Given the description of an element on the screen output the (x, y) to click on. 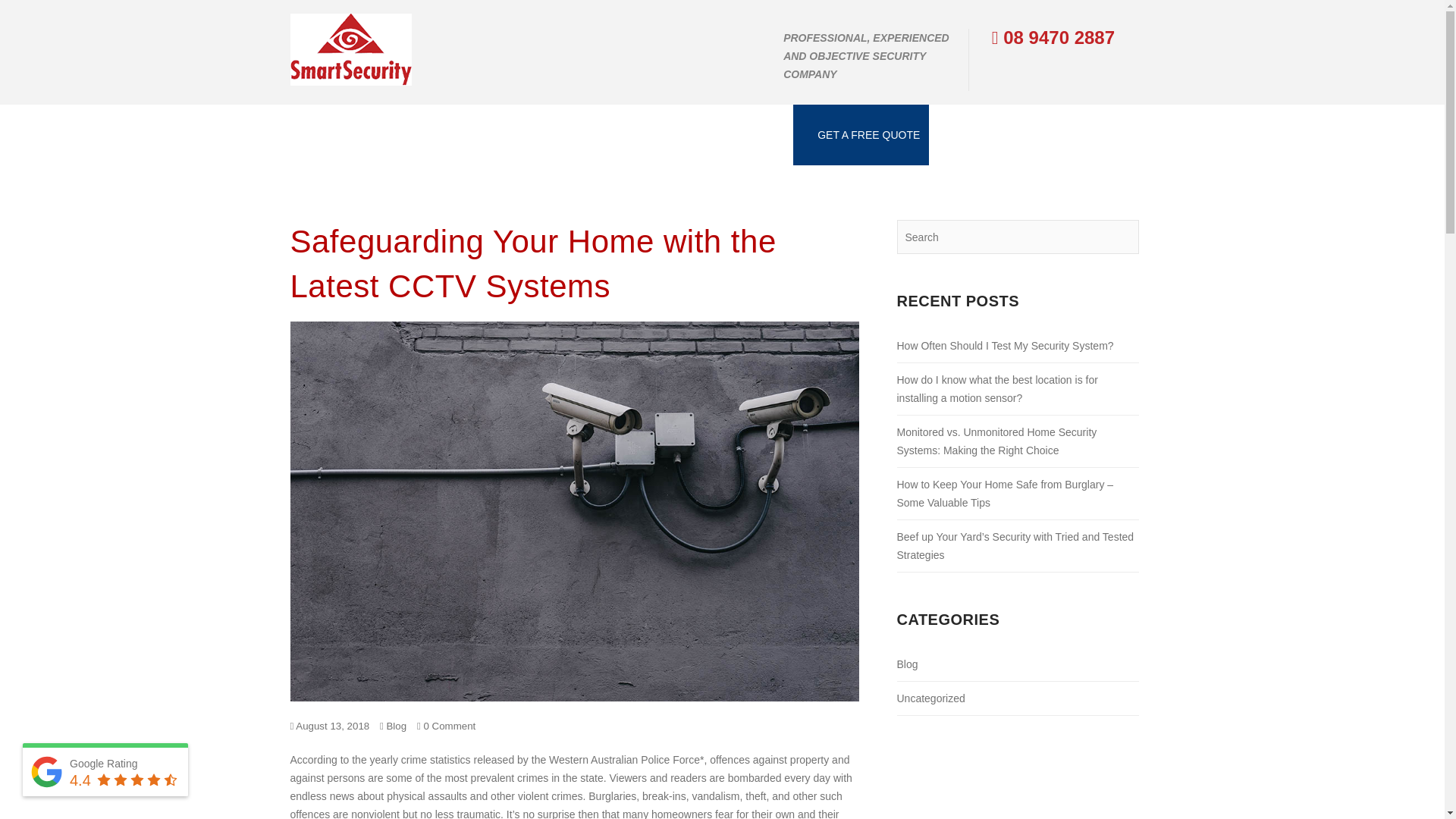
TUTORIALS (524, 134)
OUR COMPANY (338, 134)
08 9470 2887 (1053, 37)
OUR SERVICES (436, 134)
